Given the description of an element on the screen output the (x, y) to click on. 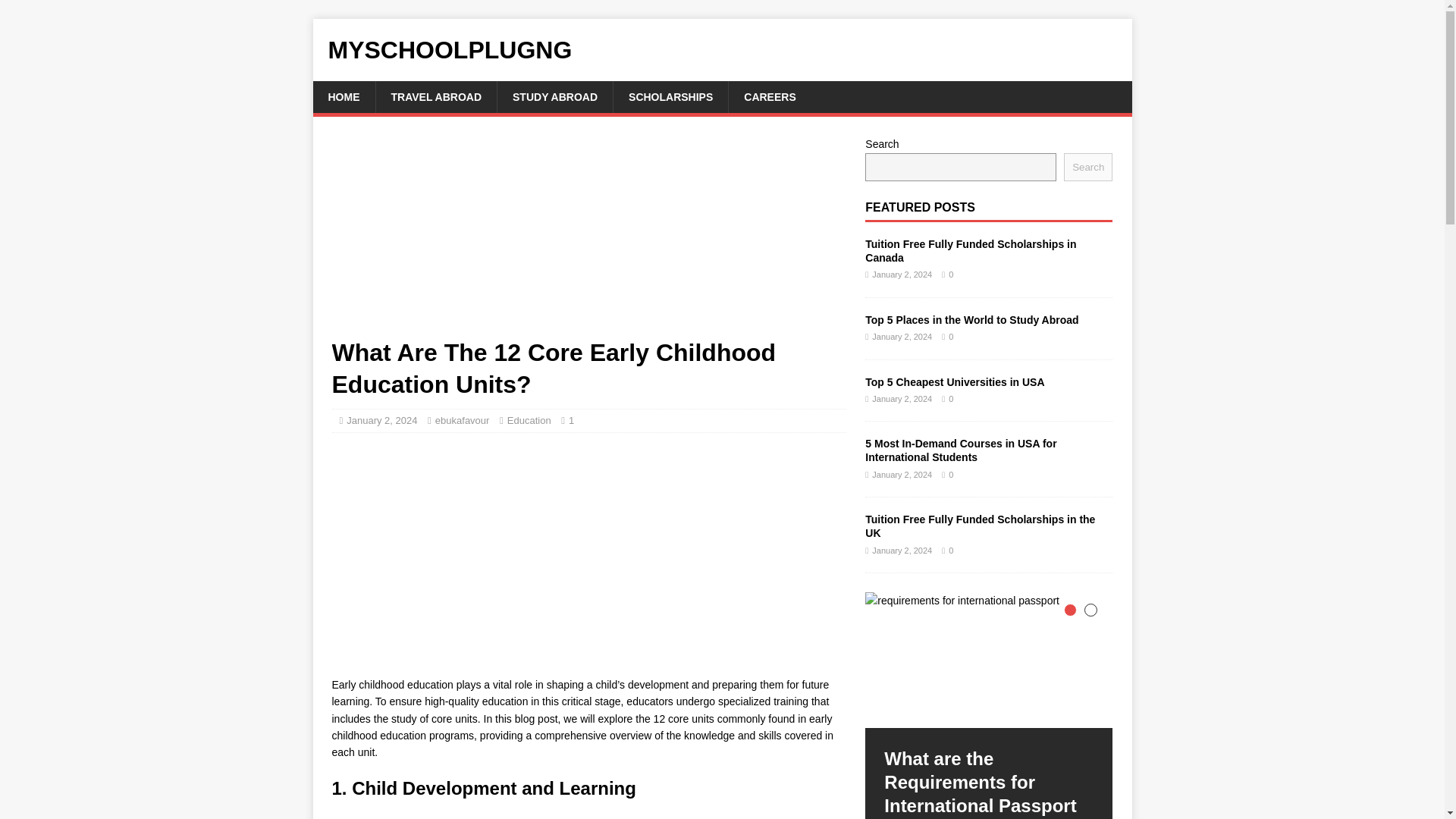
Education (528, 419)
CAREERS (769, 97)
HOME (343, 97)
ebukafavour (462, 419)
Tuition Free Fully Funded Scholarships in the UK (979, 525)
MYSCHOOLPLUGNG (721, 49)
Tuition Free Fully Funded Scholarships in Canada (969, 250)
Top 5 Cheapest Universities in USA (953, 381)
5 Most In-Demand Courses in USA for International Students (960, 450)
Search (1088, 166)
MySchoolPlugNg (721, 49)
TRAVEL ABROAD (435, 97)
5 Most In-Demand Courses in USA for International Students (960, 450)
FEATURED POSTS (919, 206)
Tuition Free Fully Funded Scholarships in the UK (979, 525)
